Given the description of an element on the screen output the (x, y) to click on. 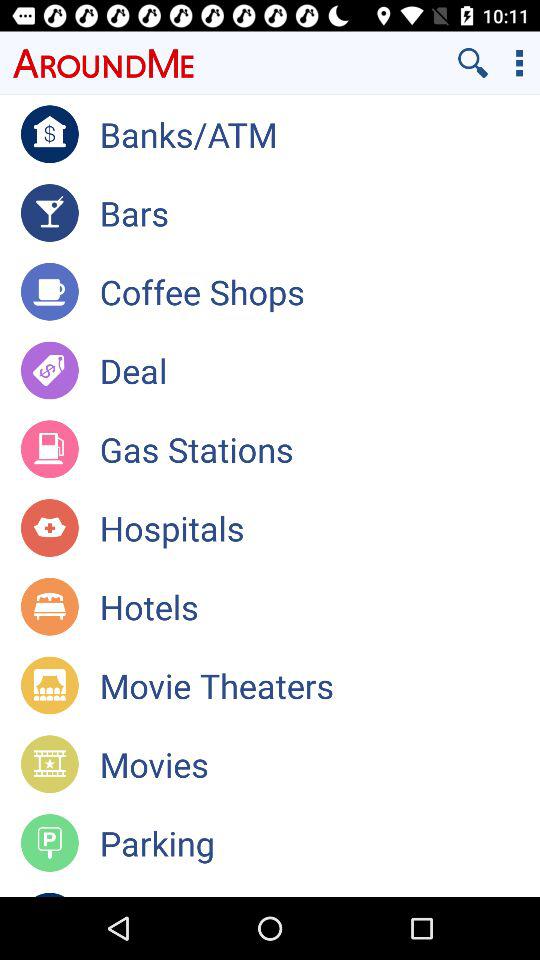
press icon below the movie theaters item (319, 764)
